Given the description of an element on the screen output the (x, y) to click on. 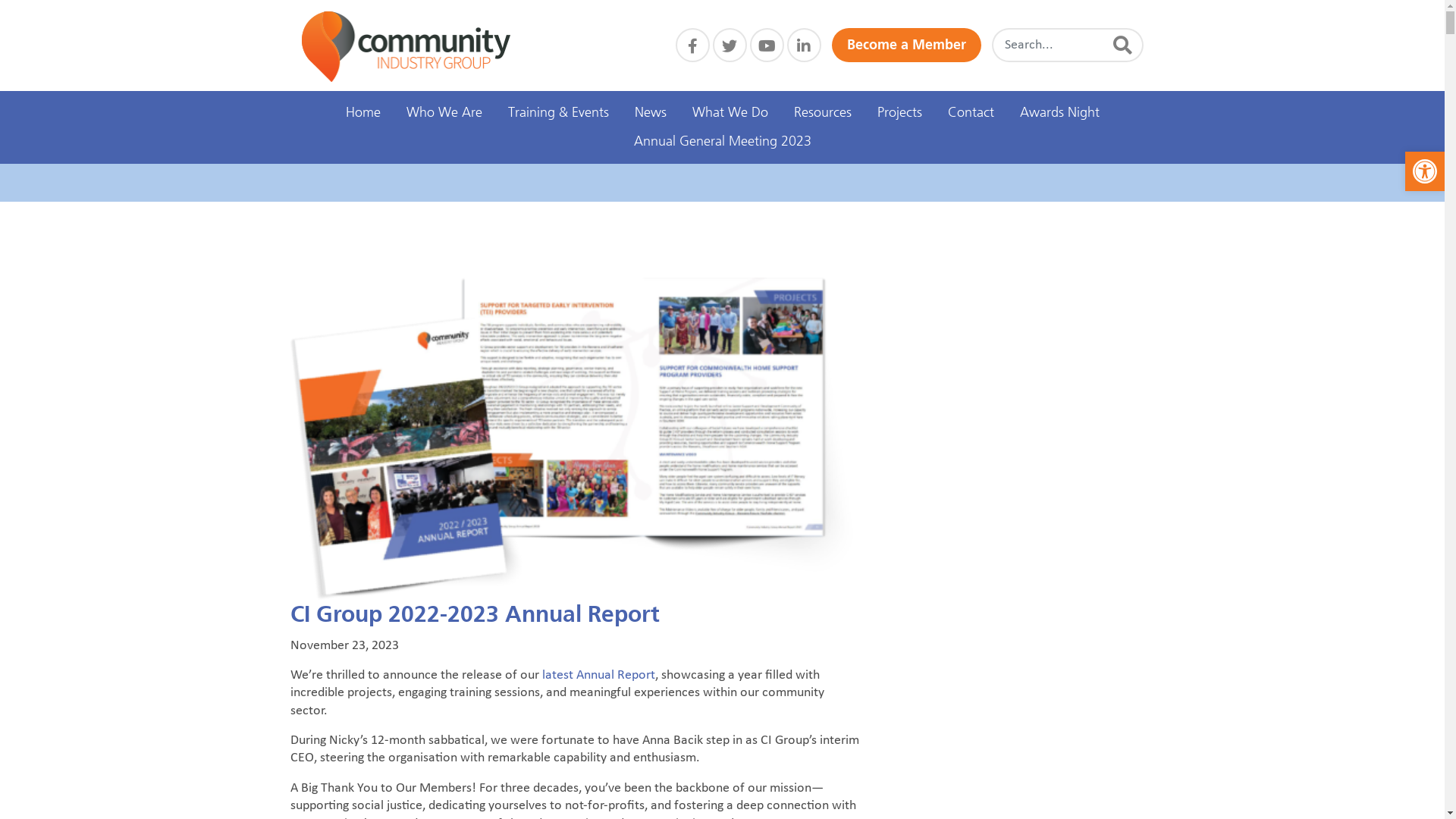
Awards Night Element type: text (1059, 112)
Who We Are Element type: text (443, 112)
Home Element type: text (362, 112)
What We Do Element type: text (729, 112)
News Element type: text (650, 112)
Training & Events Element type: text (557, 112)
Become a Member Element type: text (905, 45)
Open toolbar
Accessibility Tools Element type: text (1424, 171)
latest Annual Report Element type: text (597, 675)
Projects Element type: text (899, 112)
Annual General Meeting 2023 Element type: text (721, 141)
Resources Element type: text (822, 112)
Contact Element type: text (969, 112)
Community Industry Group Element type: hover (405, 46)
